Given the description of an element on the screen output the (x, y) to click on. 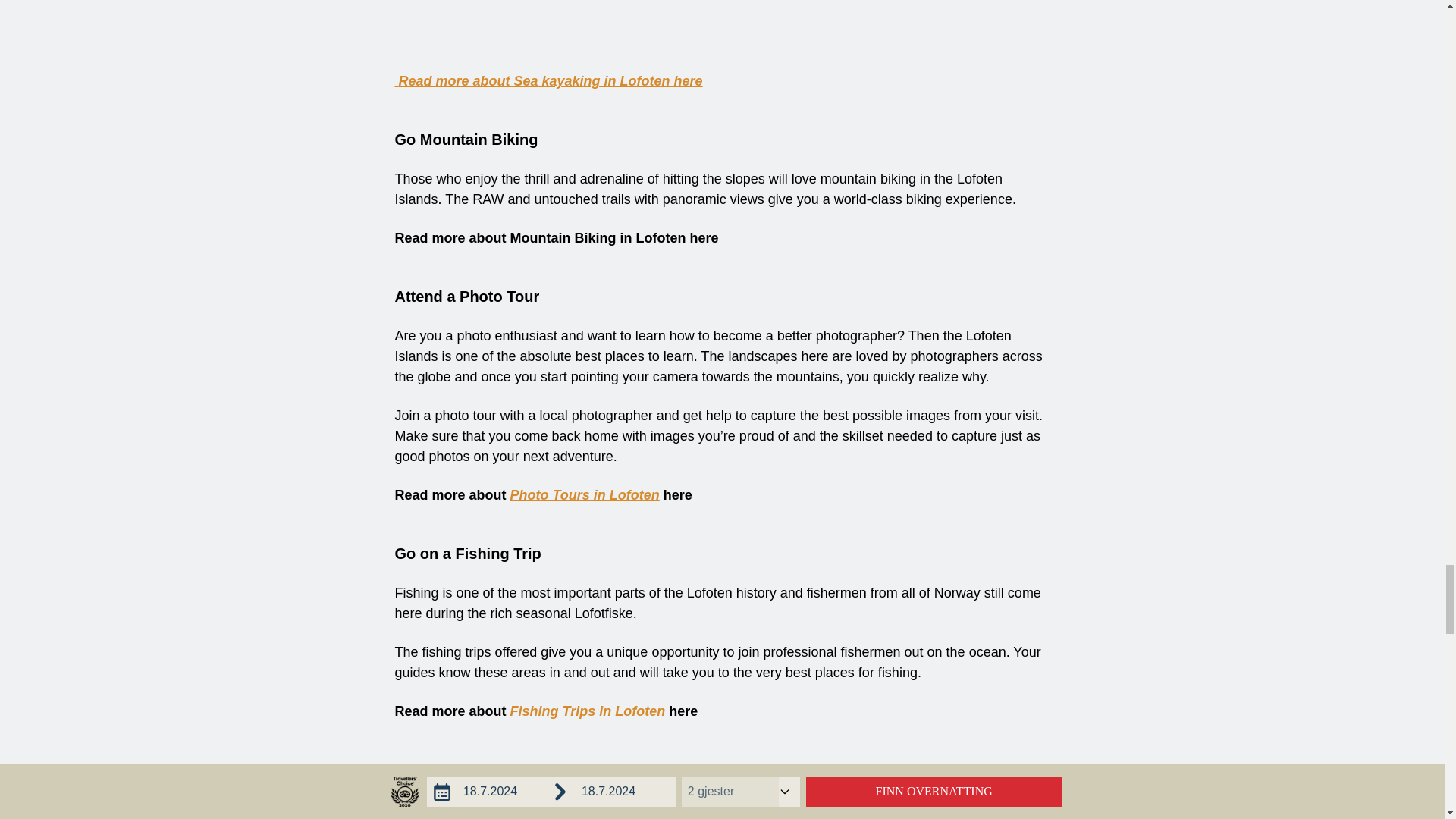
Photo Tours in Lofoten (585, 494)
Fishing Trips in Lofoten (588, 711)
 Read more about Sea kayaking in Lofoten here (547, 80)
